Given the description of an element on the screen output the (x, y) to click on. 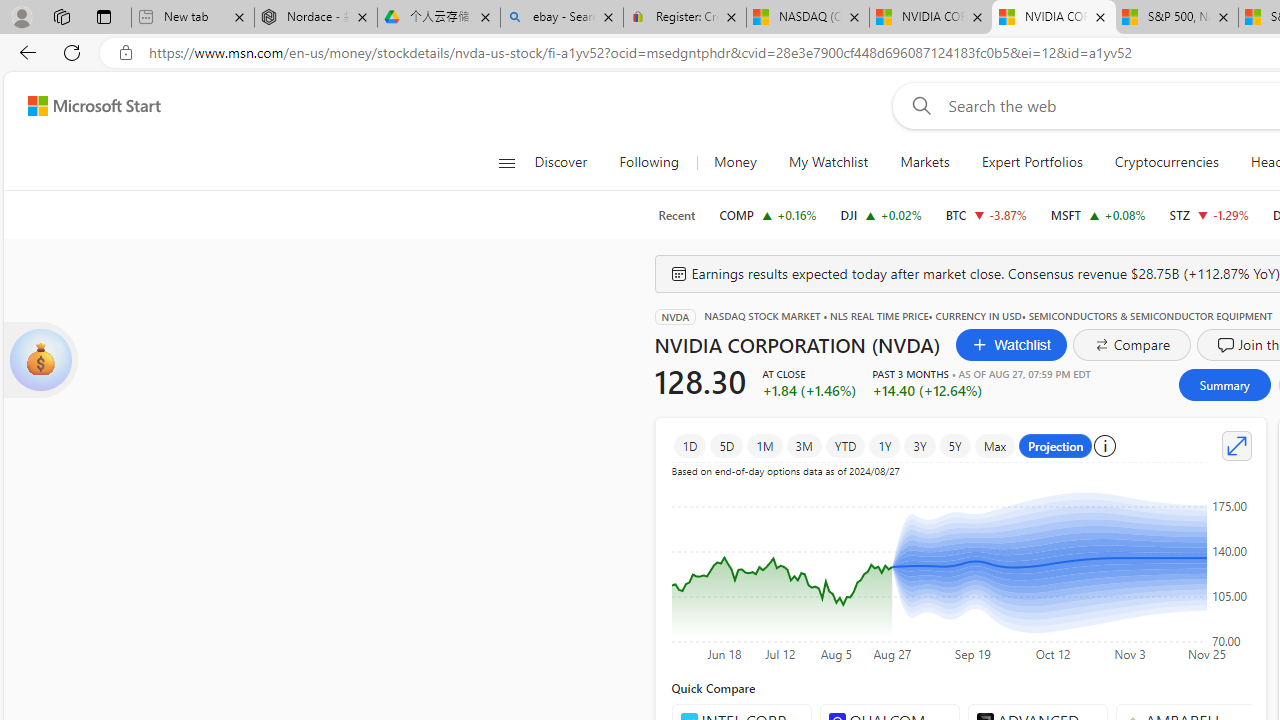
My Watchlist (827, 162)
5D (726, 445)
Recent (676, 215)
Summary (1224, 384)
MSFT MICROSOFT CORPORATION increase 413.84 +0.35 +0.08% (1098, 214)
3M (803, 445)
Skip to footer (82, 105)
